Given the description of an element on the screen output the (x, y) to click on. 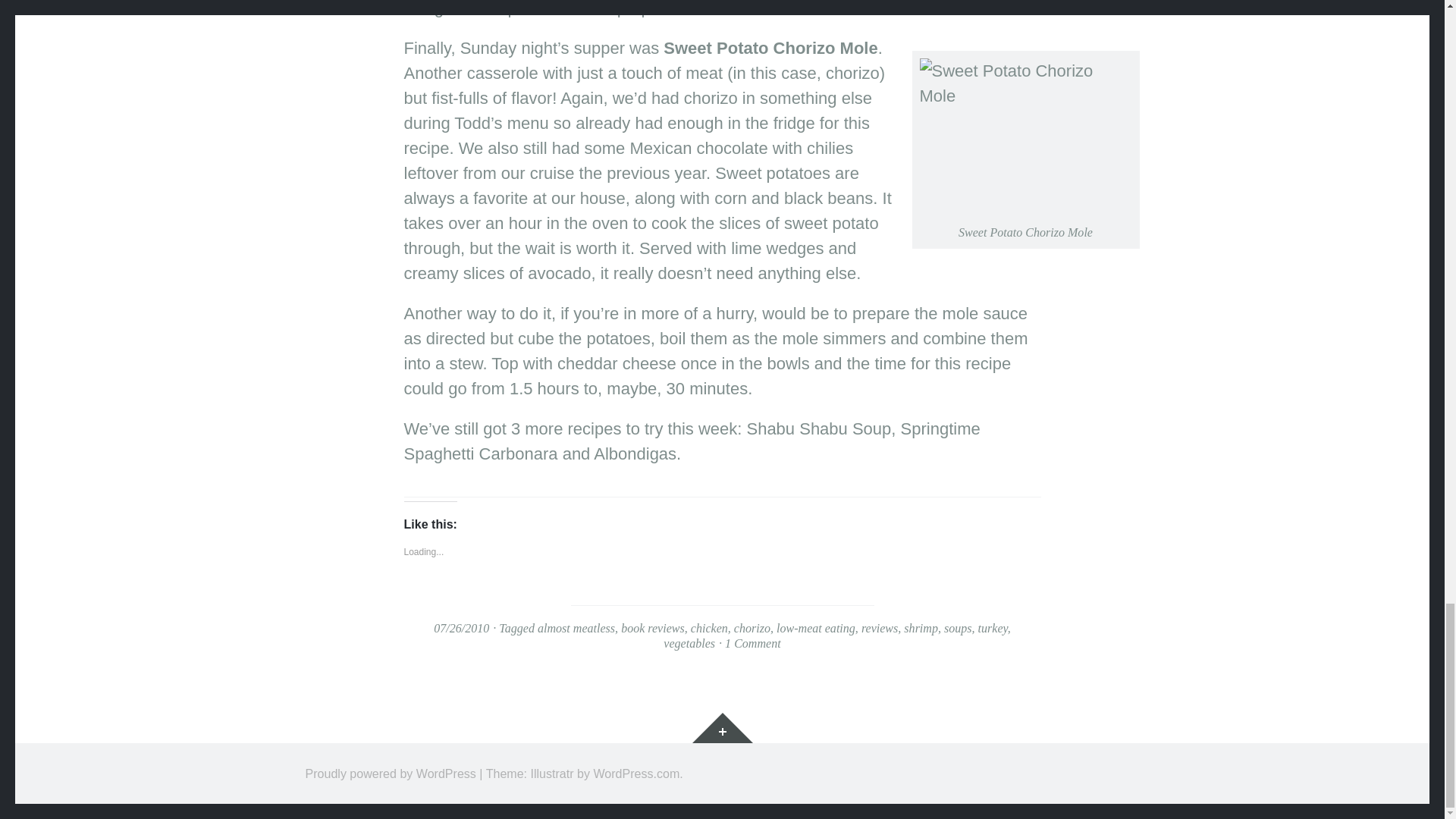
low-meat eating (816, 627)
book reviews (652, 627)
chorizo (751, 627)
soups (957, 627)
shrimp (920, 627)
chicken (709, 627)
almost meatless (575, 627)
reviews (879, 627)
